Given the description of an element on the screen output the (x, y) to click on. 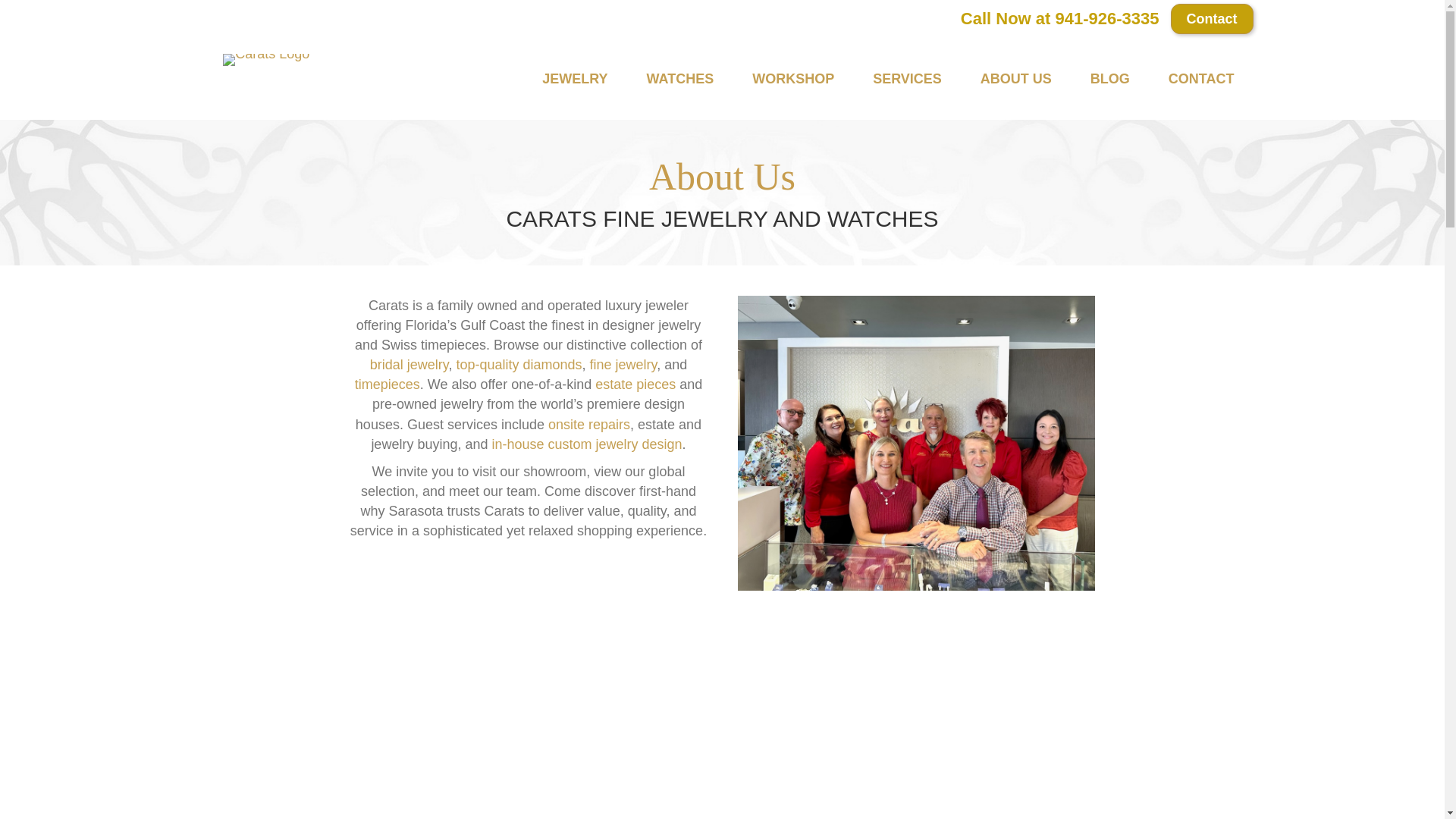
Contact (1211, 19)
JEWELRY (574, 78)
Call Now at 941-926-3335 (1060, 18)
store team (915, 450)
WORKSHOP (793, 78)
ABOUT US (1015, 78)
CONTACT (1201, 78)
BLOG (1109, 78)
SERVICES (906, 78)
WATCHES (679, 78)
